Given the description of an element on the screen output the (x, y) to click on. 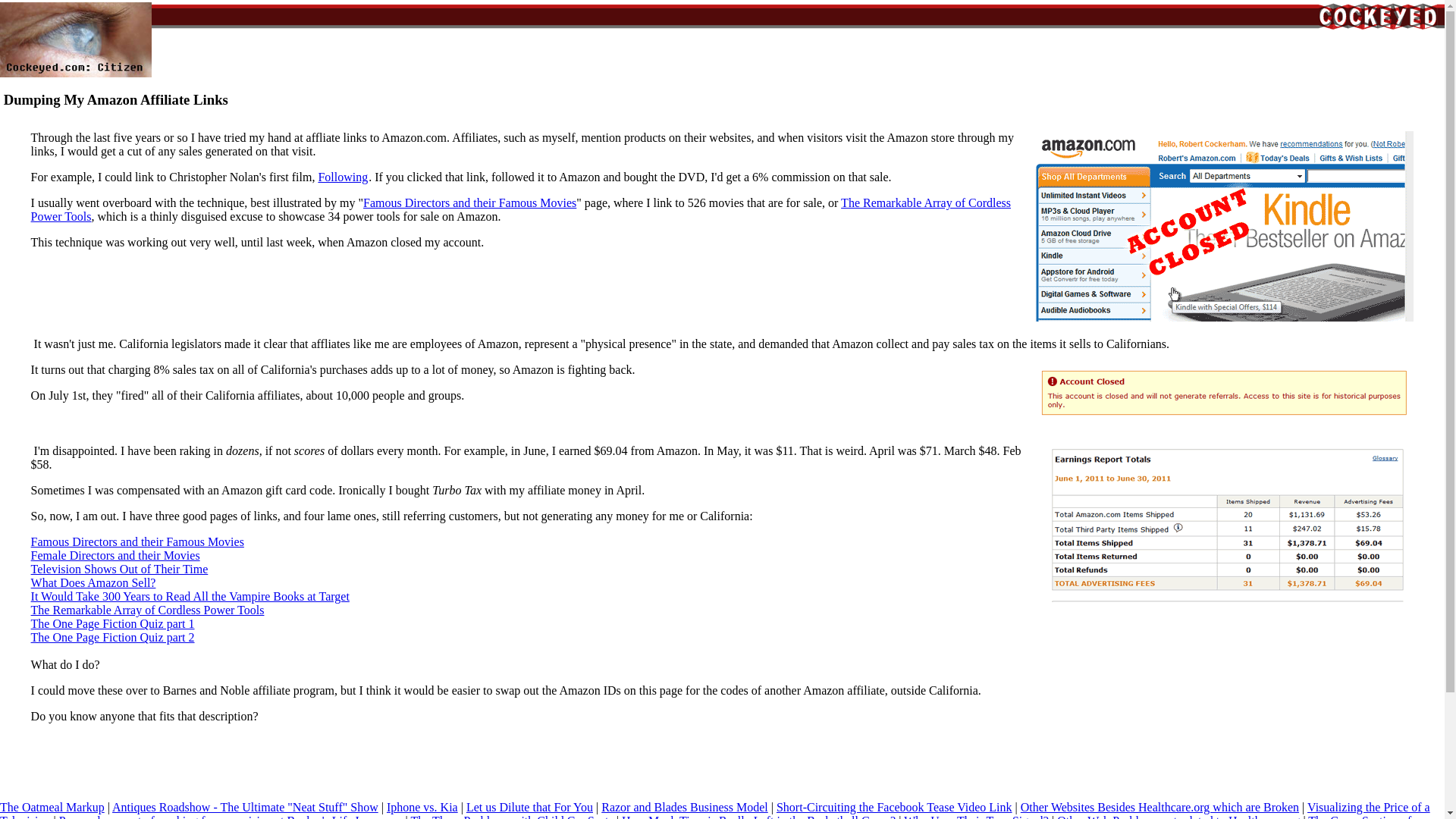
Famous Directors and their Famous Movies (469, 202)
Short-Circuiting the Facebook Tease Video Link (893, 807)
Advertisement (781, 36)
Female Directors and their Movies (115, 554)
Famous Directors and their Famous Movies (137, 541)
Razor and Blades Business Model (684, 807)
Let us Dilute that For You (528, 807)
The Oatmeal Markup (52, 807)
Iphone vs. Kia (422, 807)
